Given the description of an element on the screen output the (x, y) to click on. 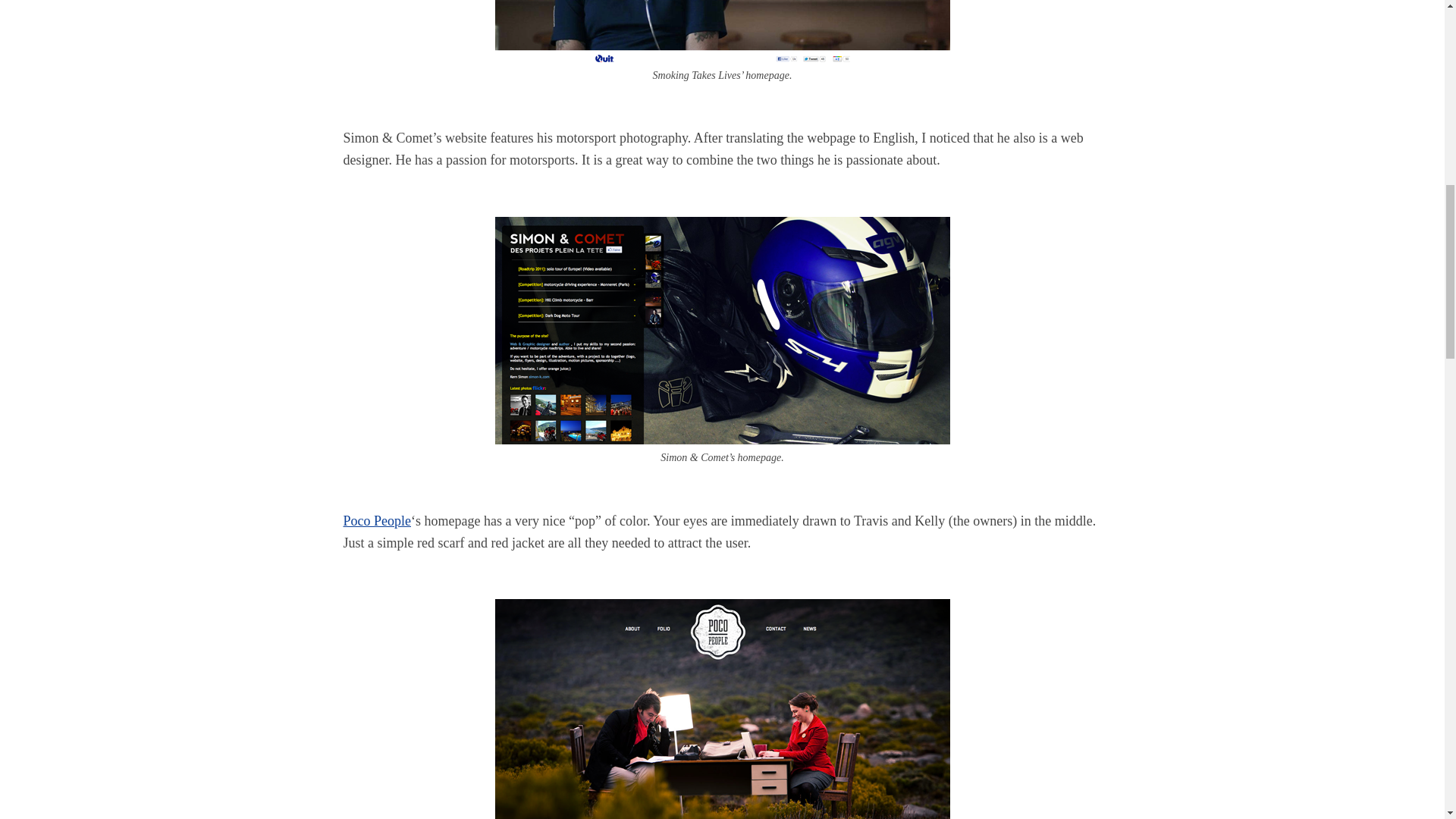
Poco People (376, 520)
